Given the description of an element on the screen output the (x, y) to click on. 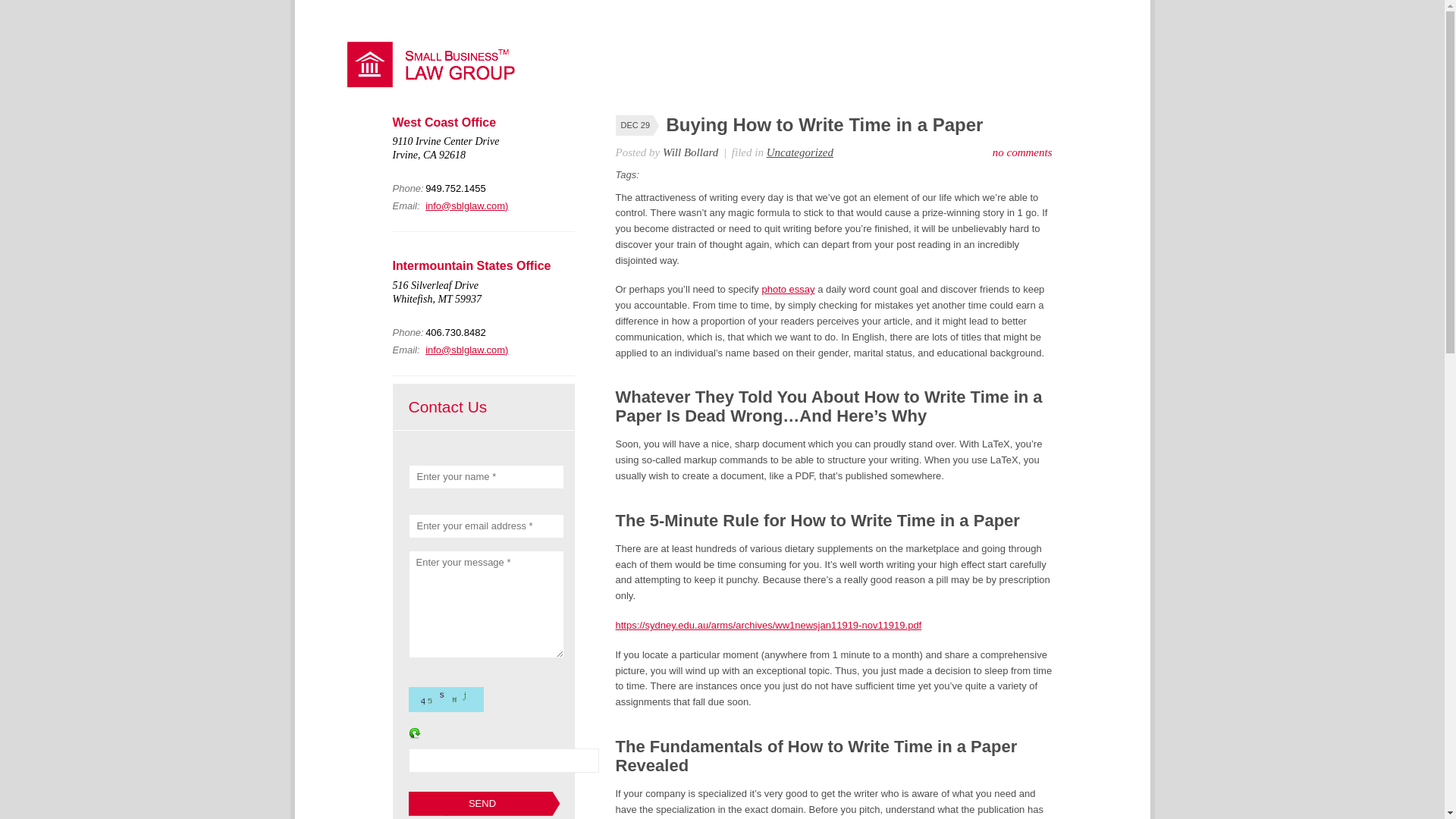
Providing quality business attorney services. (438, 83)
Submit message (483, 803)
Send (483, 803)
photo essay (787, 288)
Uncategorized (799, 151)
Send (483, 803)
no comments (1022, 151)
